Given the description of an element on the screen output the (x, y) to click on. 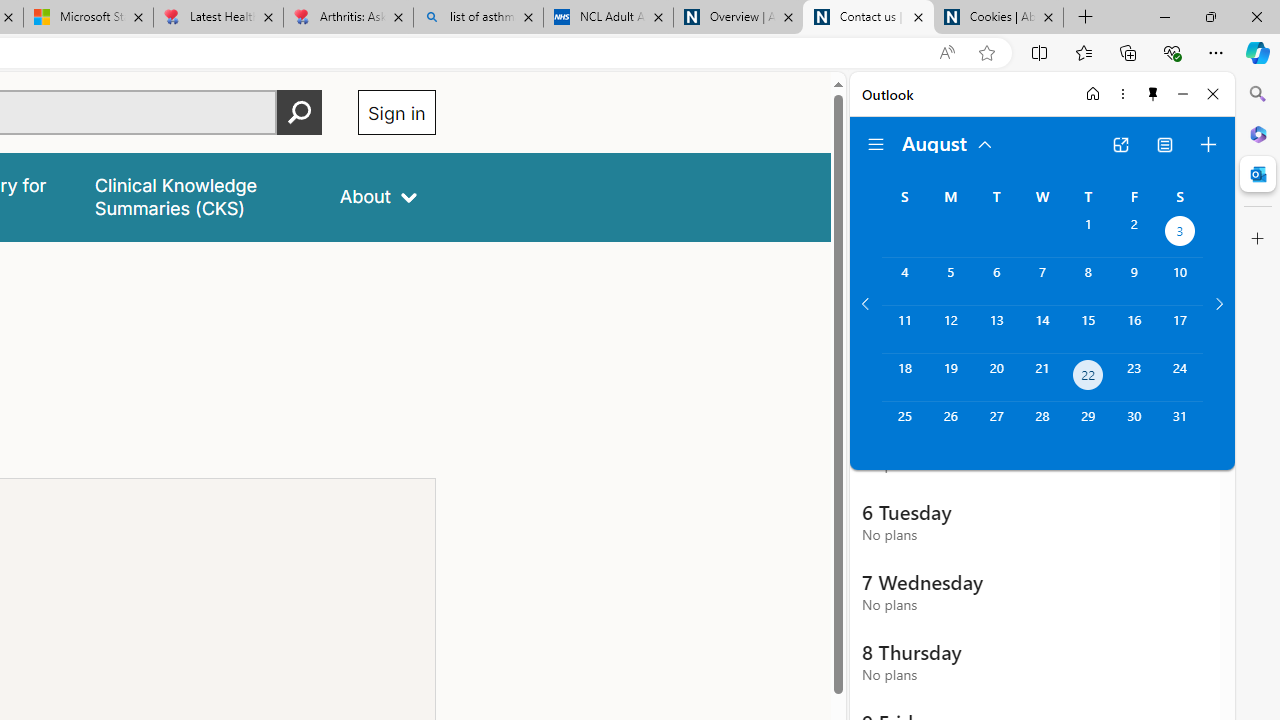
Friday, August 30, 2024.  (1134, 425)
Monday, August 5, 2024.  (950, 281)
Saturday, August 24, 2024.  (1180, 377)
Monday, August 26, 2024.  (950, 425)
Folder navigation (876, 144)
Wednesday, August 28, 2024.  (1042, 425)
Tuesday, August 27, 2024.  (996, 425)
